Given the description of an element on the screen output the (x, y) to click on. 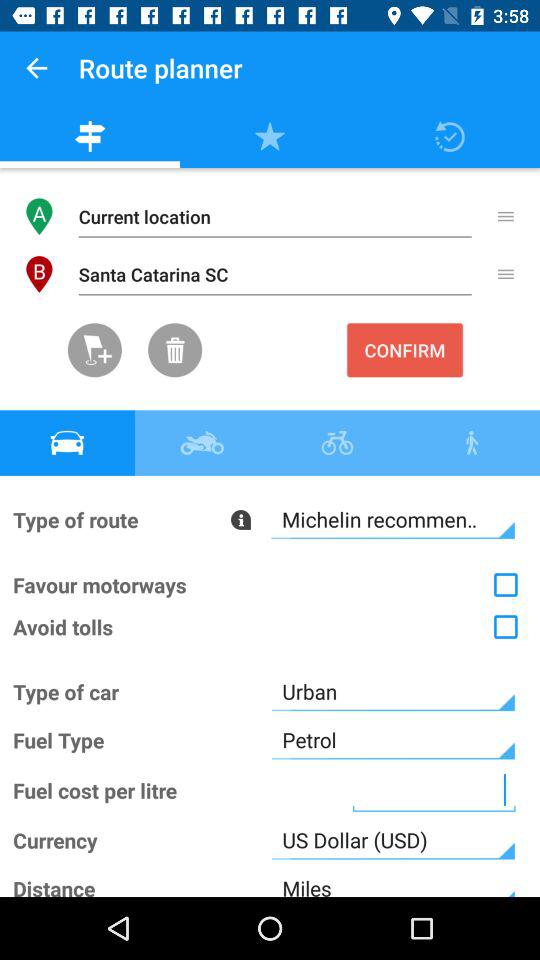
go to second option below the car icon (269, 584)
select the text field next to distance (393, 880)
click on the text field beside fuel type (393, 740)
select the option which says avoid trolls (269, 626)
